Given the description of an element on the screen output the (x, y) to click on. 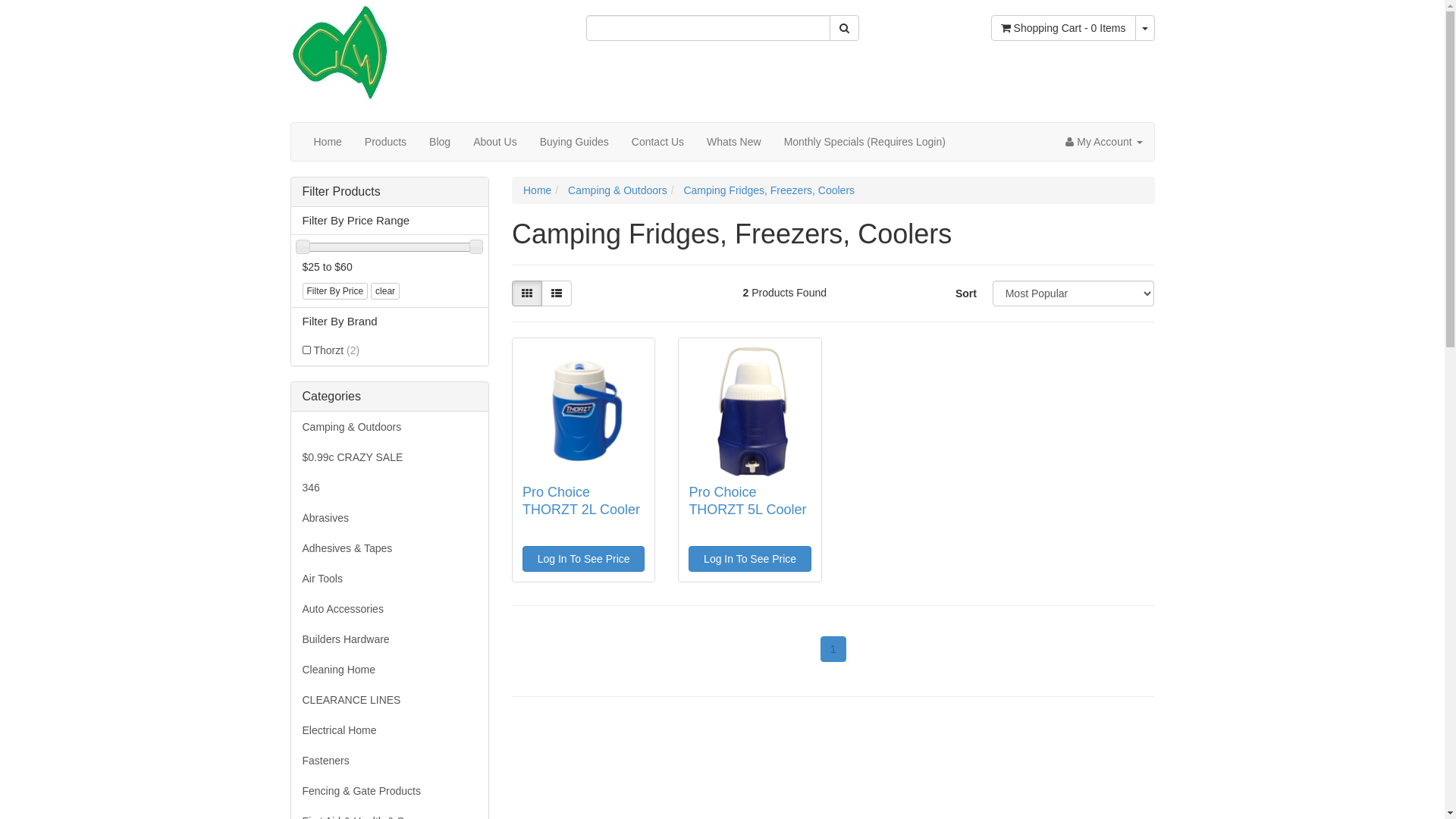
Camping & Outdoors Element type: text (390, 426)
346 Element type: text (390, 487)
Air Tools Element type: text (390, 578)
Products Element type: text (385, 141)
Camping & Outdoors Element type: text (617, 190)
Electrical Home Element type: text (390, 730)
Filter Products Element type: text (388, 191)
About Us Element type: text (494, 141)
Search Element type: text (844, 27)
Thorzt (2) Element type: text (390, 350)
Monthly Specials (Requires Login) Element type: text (864, 141)
Filter By Price Element type: text (334, 290)
Pro Choice THORZT 2L Cooler Element type: text (581, 500)
My Account Element type: text (1103, 141)
Buying Guides Element type: text (574, 141)
Pro Choice THORZT 5L Cooler Element type: text (747, 500)
clear Element type: text (384, 290)
Adhesives & Tapes Element type: text (390, 548)
Blog Element type: text (439, 141)
Builders Hardware Element type: text (390, 639)
Fasteners Element type: text (390, 760)
Auto Accessories Element type: text (390, 608)
G&L Wholesalers Element type: hover (338, 52)
Fencing & Gate Products Element type: text (390, 790)
Contact Us Element type: text (657, 141)
Cleaning Home Element type: text (390, 669)
Log In To See Price Element type: text (749, 558)
1 Element type: text (833, 649)
$0.99c CRAZY SALE Element type: text (390, 457)
Log In To See Price Element type: text (583, 558)
Shopping Cart - 0 Items Element type: text (1063, 27)
Camping Fridges, Freezers, Coolers Element type: text (768, 190)
Abrasives Element type: text (390, 517)
Whats New Element type: text (733, 141)
Home Element type: text (537, 190)
CLEARANCE LINES Element type: text (390, 699)
Home Element type: text (326, 141)
